Given the description of an element on the screen output the (x, y) to click on. 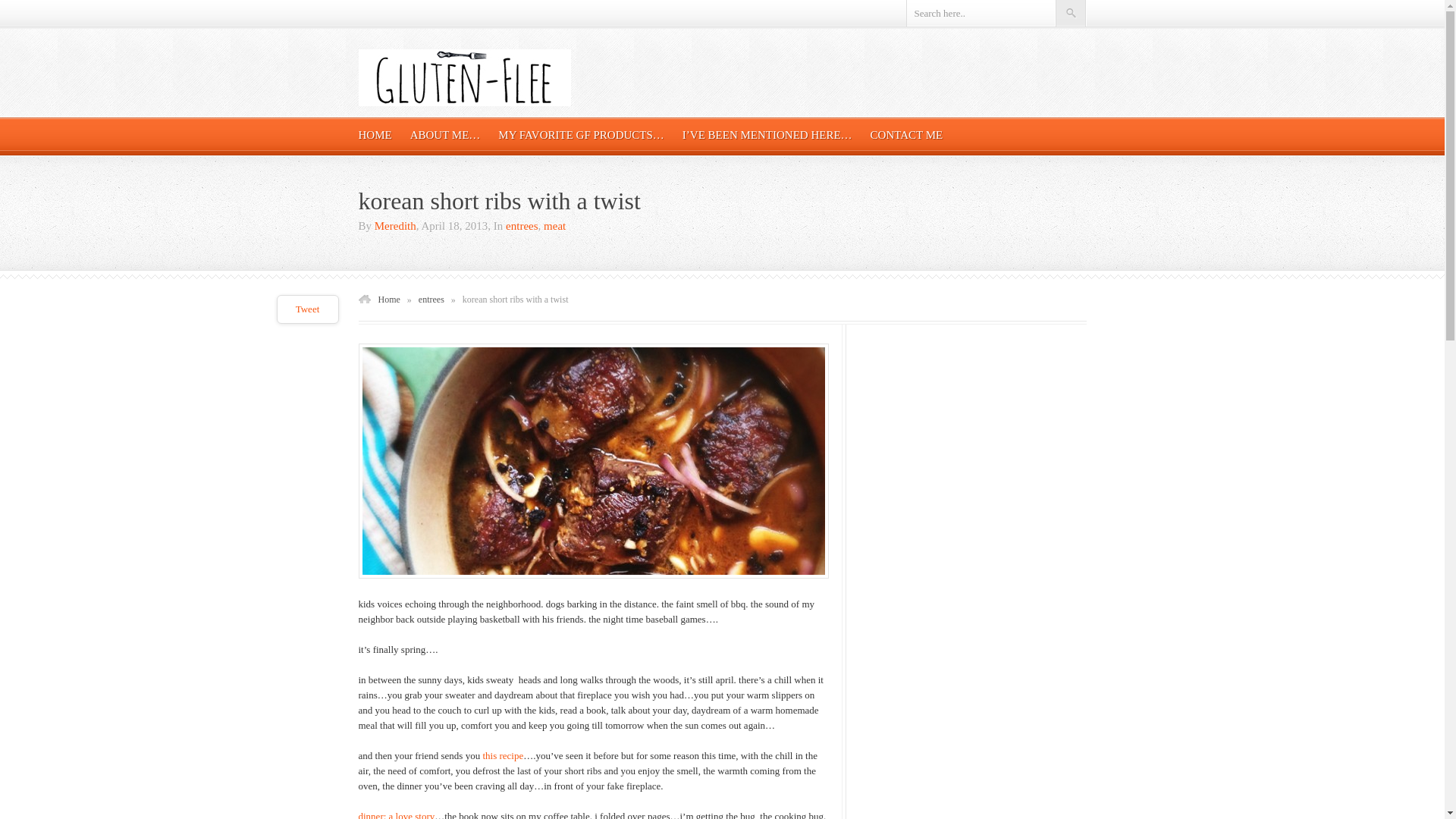
meat (554, 225)
View all posts in entrees (431, 299)
entrees (431, 299)
Meredith (395, 225)
this recipe (501, 755)
Tweet (307, 308)
entrees (521, 225)
Search here.. (979, 13)
View all posts in meat (554, 225)
View all posts in entrees (521, 225)
dinner: a love story (395, 814)
Posts by Meredith (395, 225)
Home (387, 299)
CONTACT ME (906, 134)
HOME (374, 134)
